Given the description of an element on the screen output the (x, y) to click on. 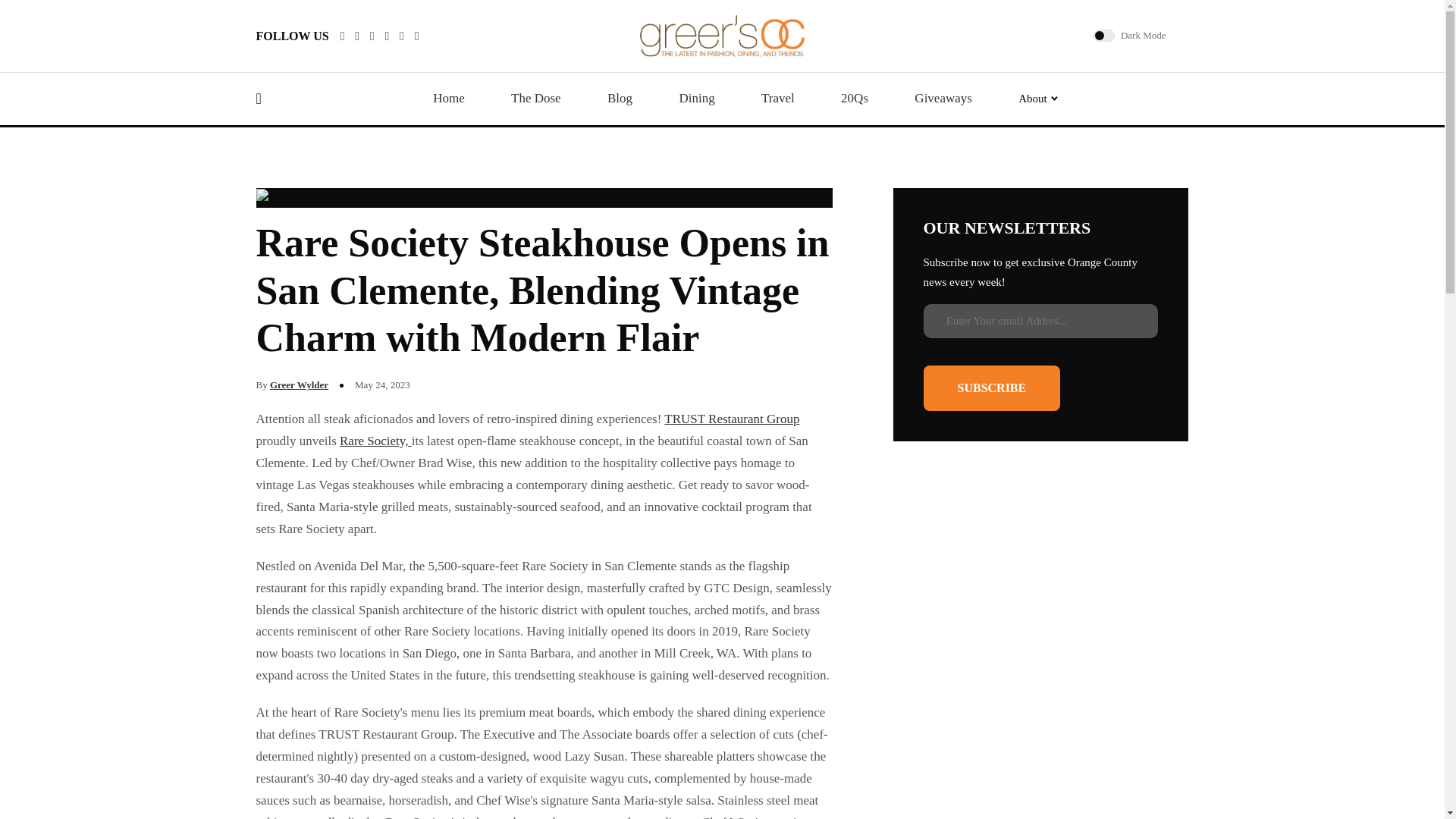
Giveaways (943, 98)
Home (448, 98)
Greer Wylder (299, 384)
Dining (696, 98)
Blog (619, 98)
SUBSCRIBE (992, 388)
20Qs (854, 98)
Travel (777, 98)
The Dose (535, 98)
